Given the description of an element on the screen output the (x, y) to click on. 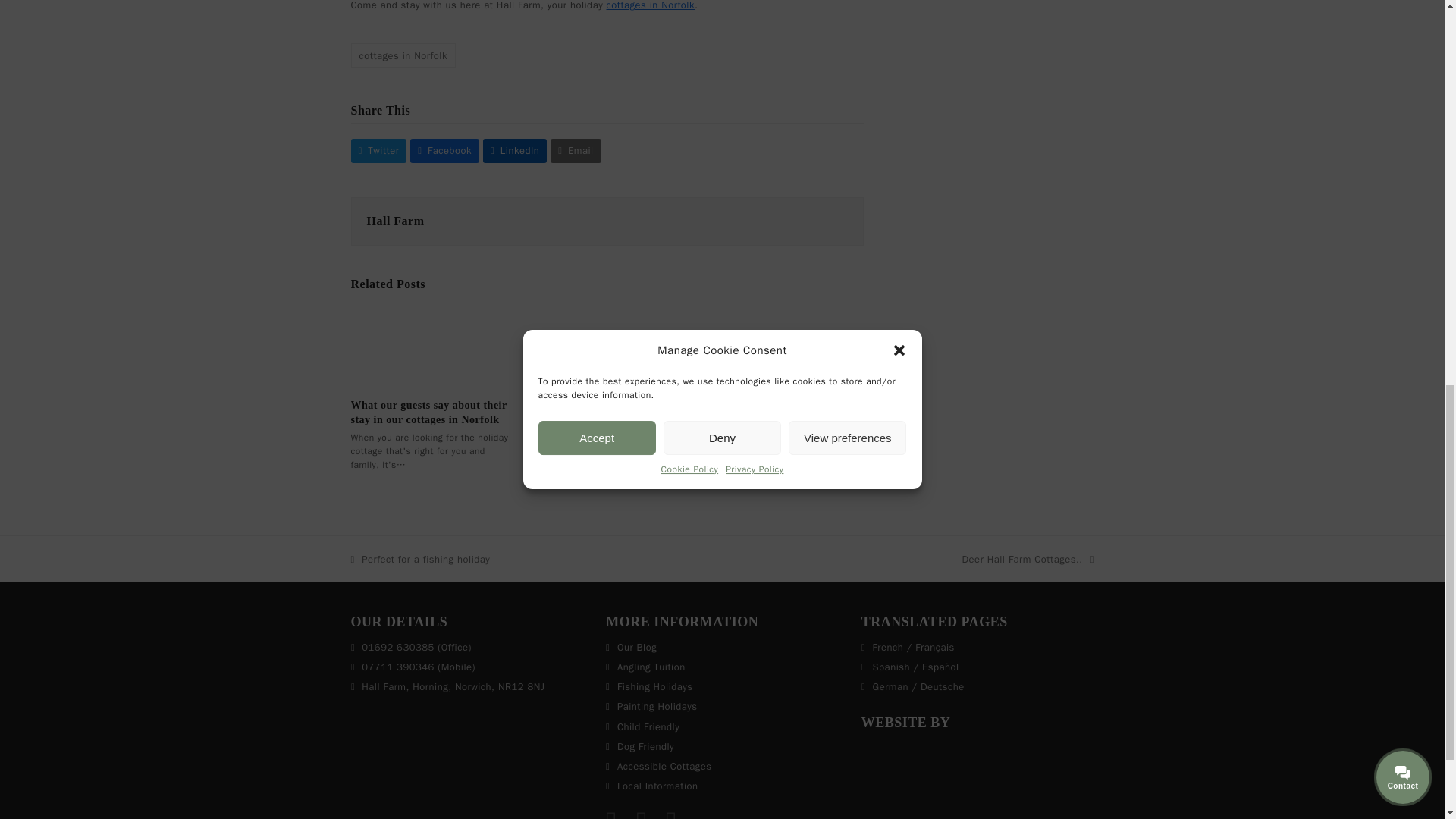
An Autumn Break is Just What The Doctor Ordered (607, 350)
